Given the description of an element on the screen output the (x, y) to click on. 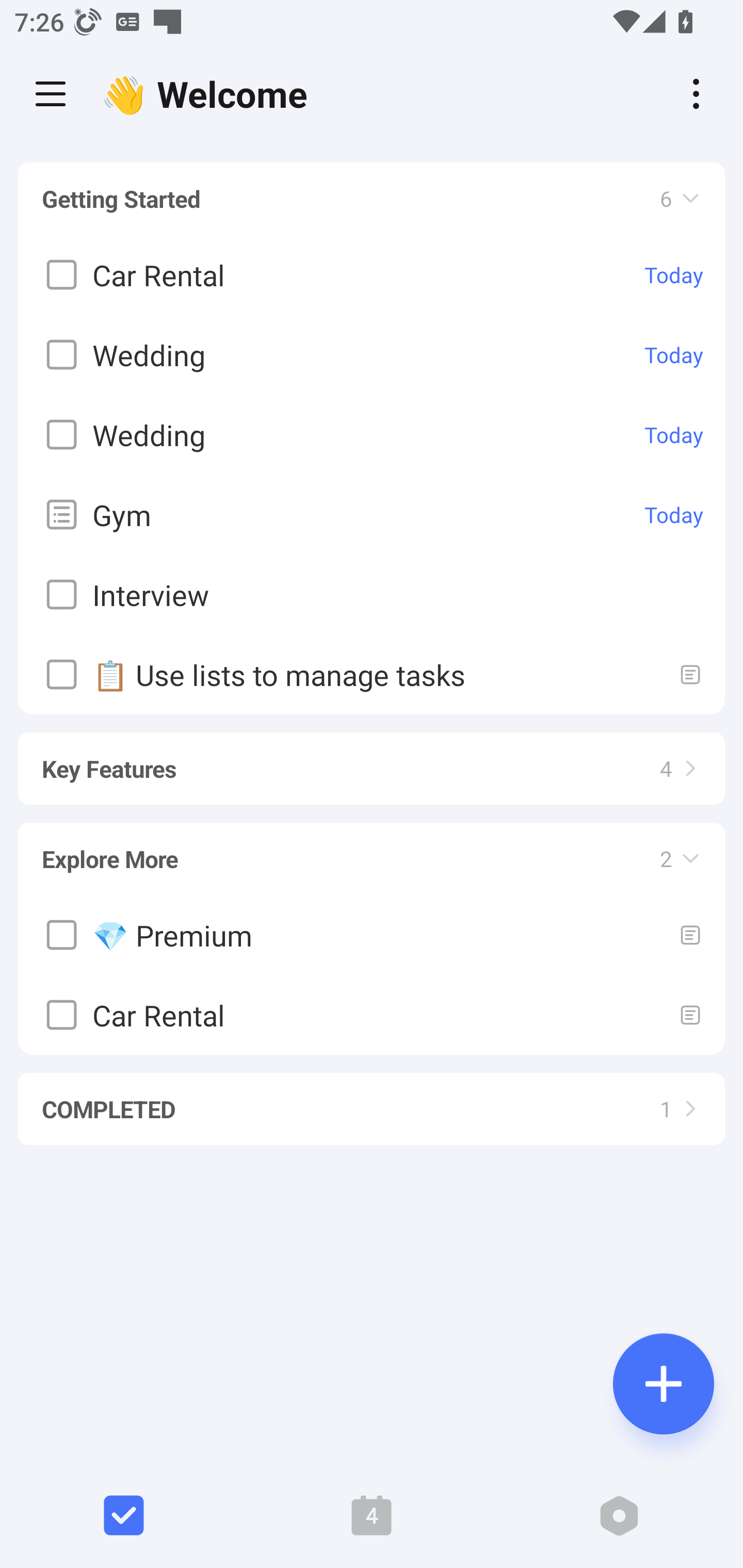
👋 Welcome (209, 93)
Getting Started 6 (371, 199)
Car Rental Today (371, 275)
Today (673, 275)
Wedding Today (371, 355)
Today (673, 355)
Wedding Today (371, 435)
Today (673, 435)
Gym Today (371, 515)
Today (673, 514)
Interview (371, 595)
📋 Use lists to manage tasks (371, 675)
Key Features 4 (371, 759)
Explore More 2 (371, 849)
💎 Premium (371, 935)
Car Rental (371, 1015)
COMPLETED 1 (371, 1099)
